Given the description of an element on the screen output the (x, y) to click on. 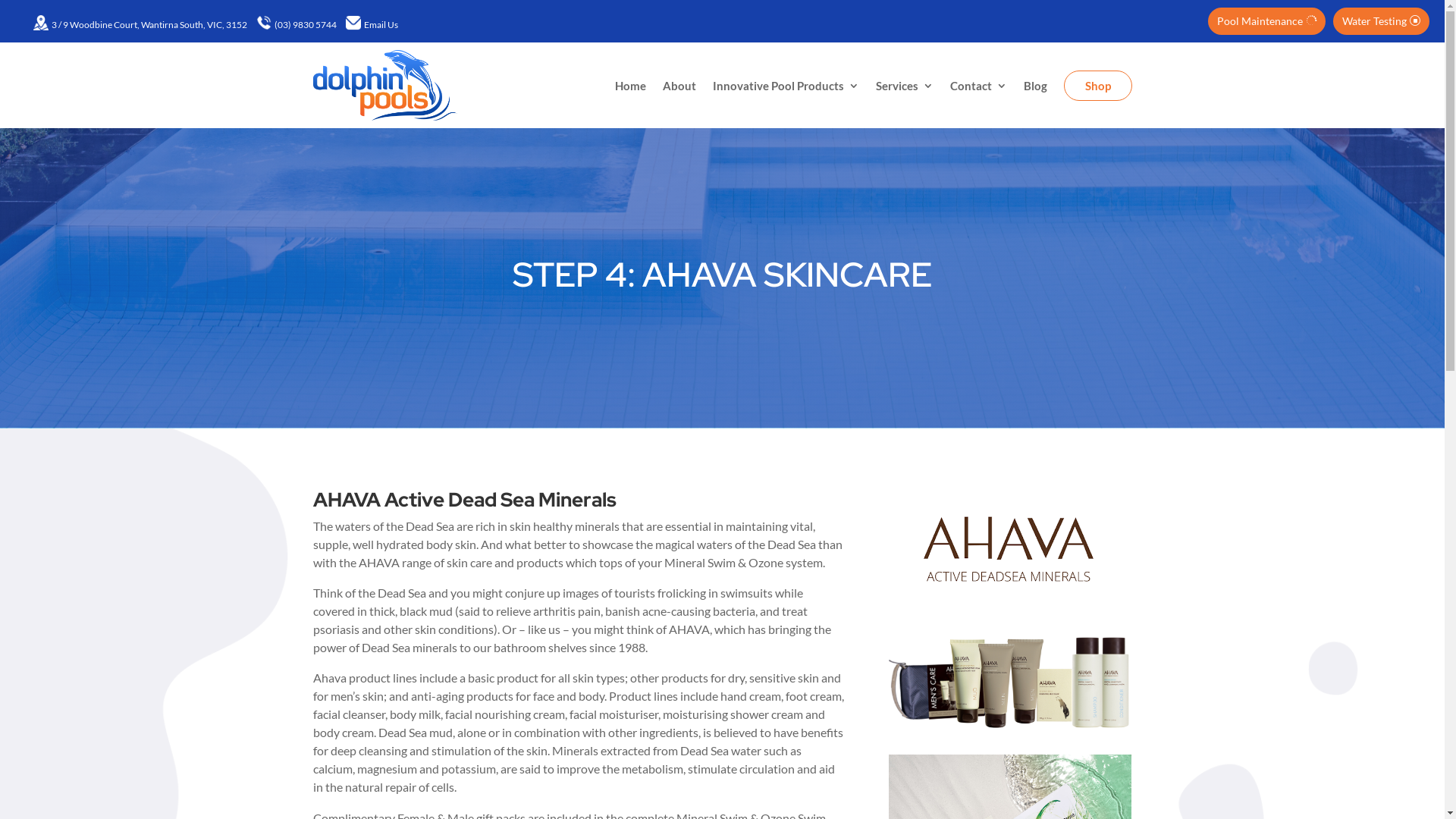
Home Element type: text (629, 85)
Contact Element type: text (977, 85)
Water Testing Element type: text (1381, 20)
3 / 9 Woodbine Court, Wantirna South, VIC, 3152 Element type: text (149, 24)
(03) 9830 5744 Element type: text (305, 24)
Pool Maintenance Element type: text (1266, 20)
images Element type: hover (1008, 550)
ahavamen Element type: hover (1009, 682)
Blog Element type: text (1035, 85)
Services Element type: text (903, 85)
Innovative Pool Products Element type: text (785, 85)
Shop Element type: text (1097, 85)
About Element type: text (679, 85)
Email Us Element type: text (381, 24)
